Given the description of an element on the screen output the (x, y) to click on. 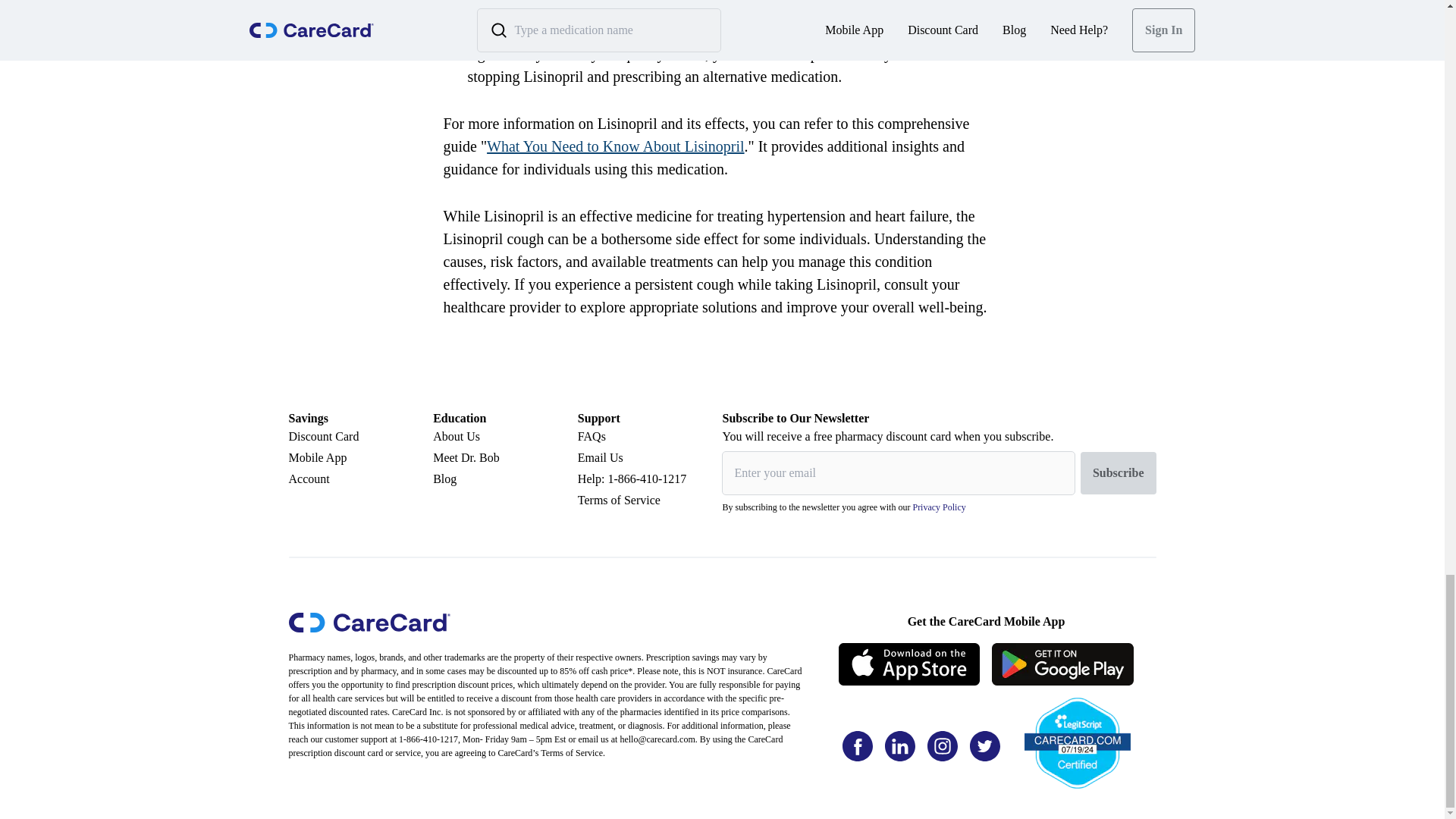
Subscribe (1118, 473)
About Us (505, 436)
Meet Dr. Bob (505, 457)
Blog (505, 479)
Privacy Policy (938, 507)
Discount Card (360, 436)
What You Need to Know About Lisinopril (615, 146)
Terms of Service (650, 500)
Mobile App (360, 457)
Help: 1-866-410-1217 (650, 479)
FAQs (650, 436)
Account (360, 479)
Email Us (650, 457)
Verify LegitScript Approval (1076, 736)
